Given the description of an element on the screen output the (x, y) to click on. 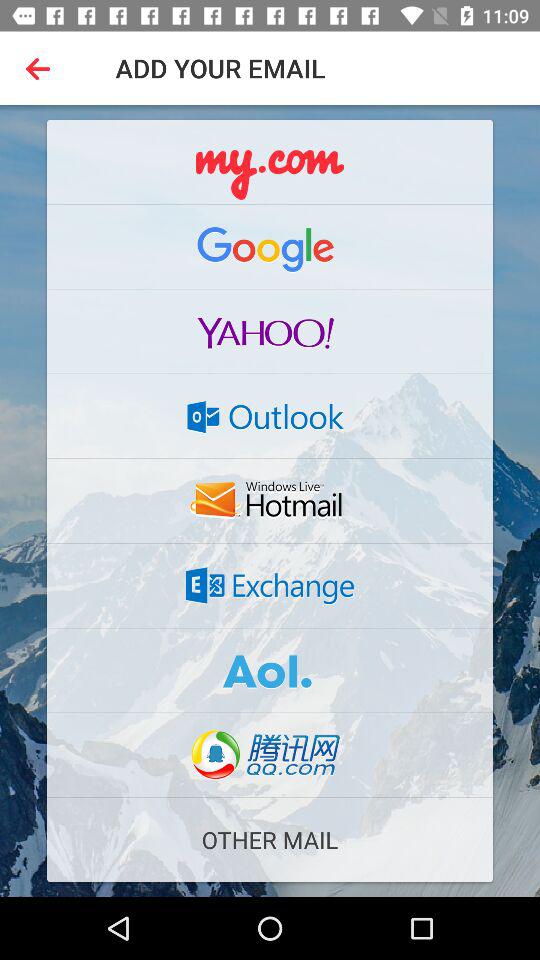
select outlook (269, 416)
